Given the description of an element on the screen output the (x, y) to click on. 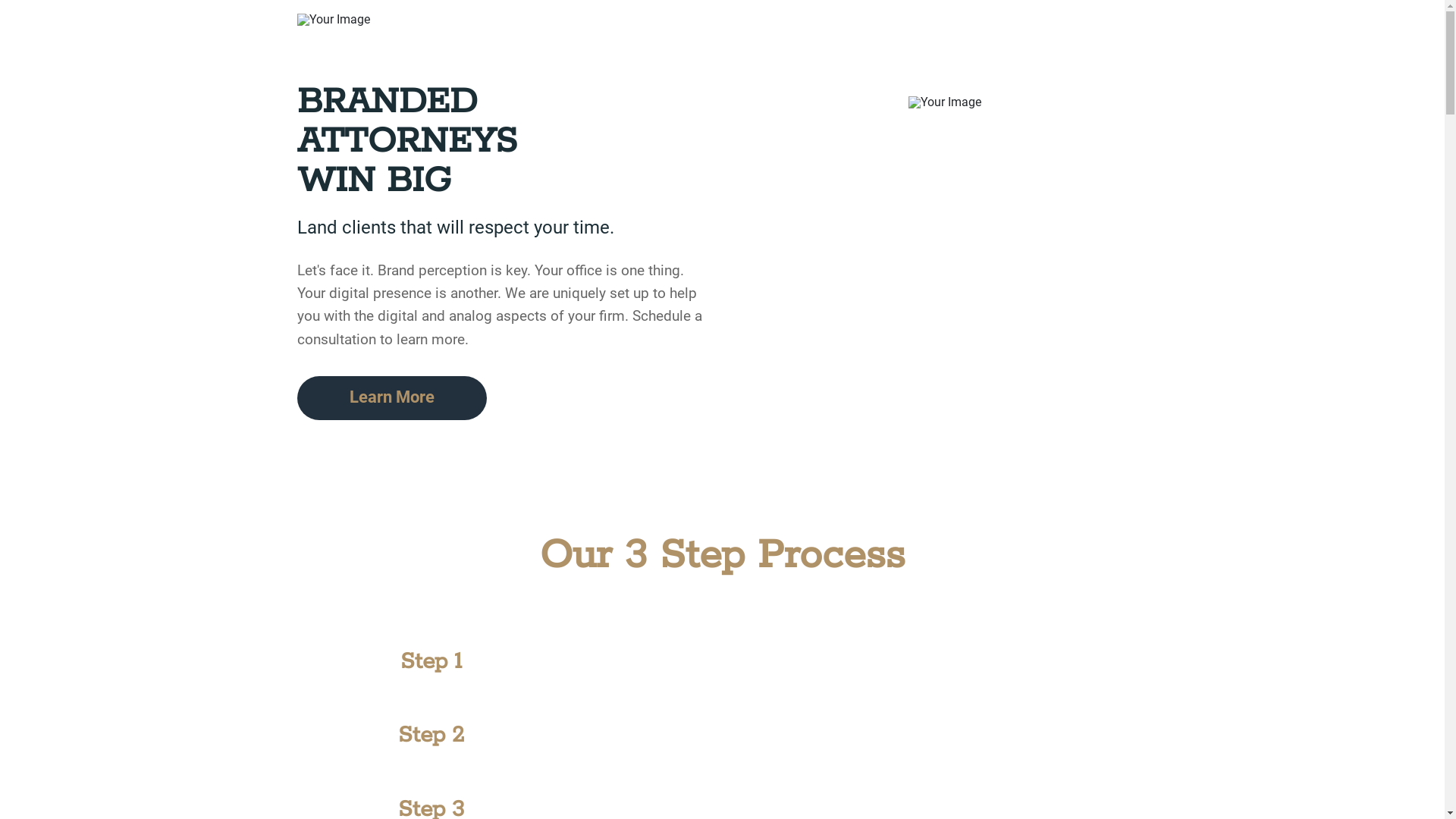
Learn More Element type: text (391, 398)
